Given the description of an element on the screen output the (x, y) to click on. 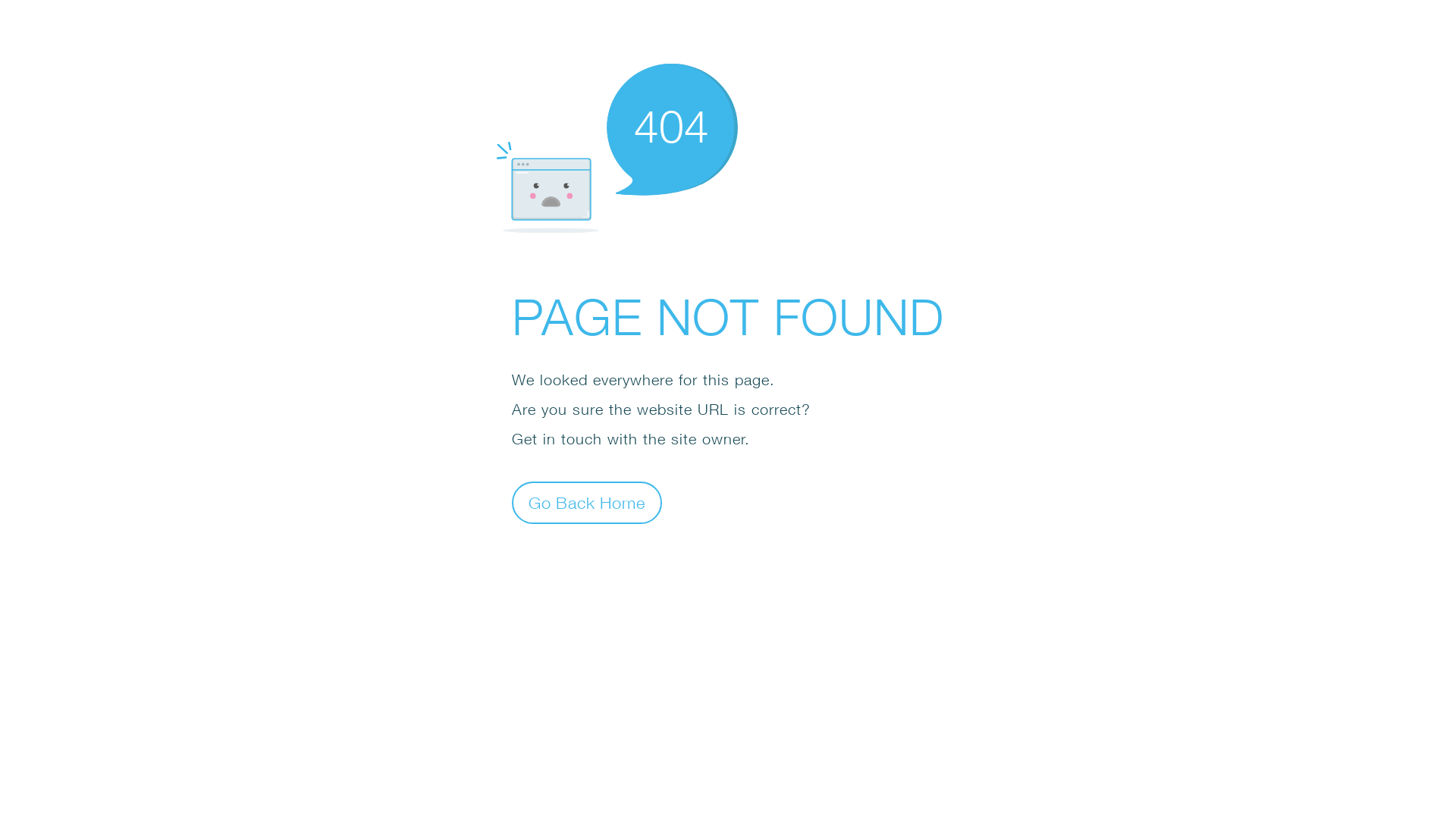
Go Back Home Element type: text (586, 502)
